Given the description of an element on the screen output the (x, y) to click on. 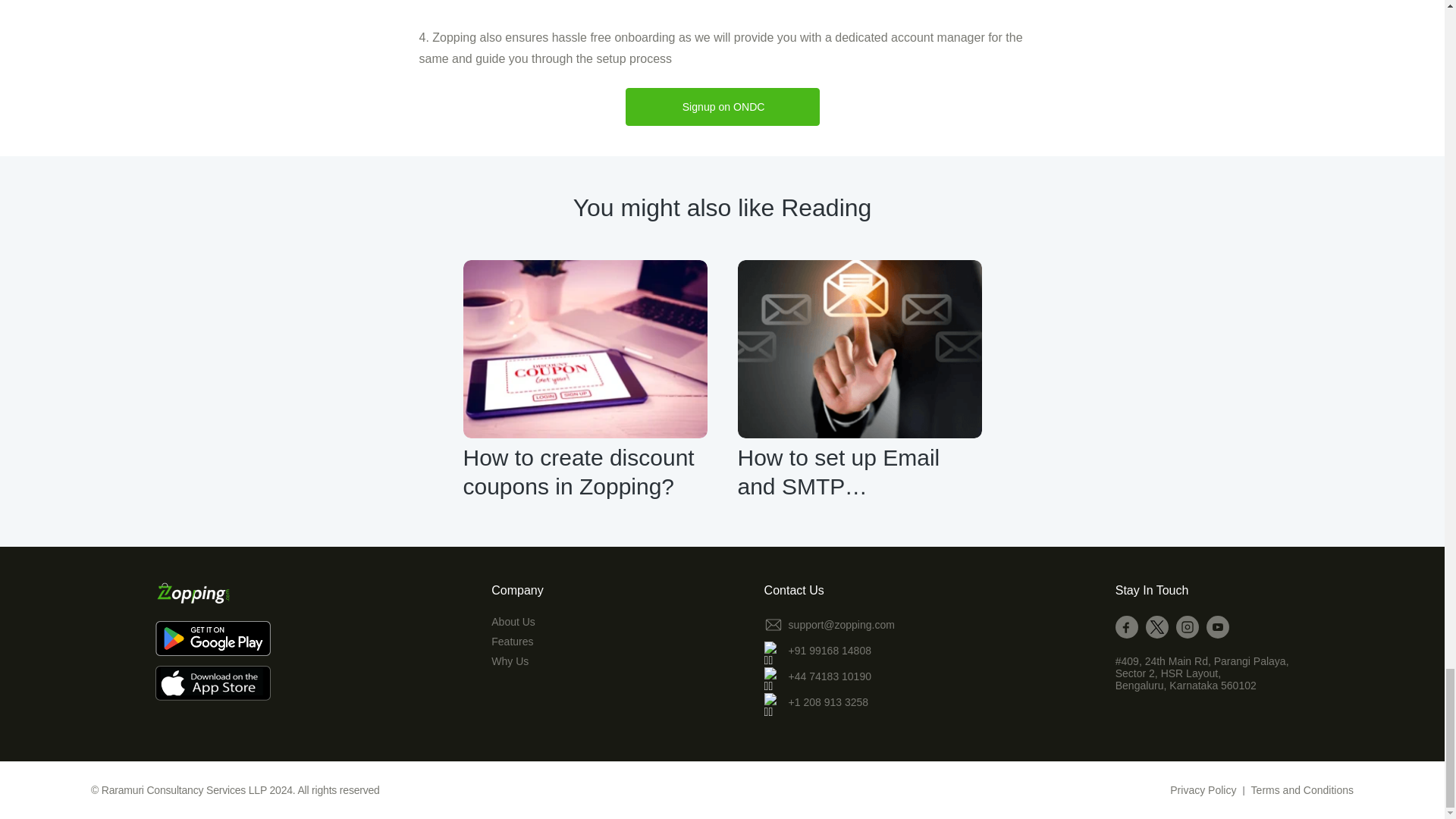
How to create discount coupons in Zopping? (584, 472)
Privacy Policy (1203, 789)
Signup on ONDC (723, 106)
About Us (517, 621)
Terms and Conditions (1302, 789)
Features (517, 641)
Why Us (517, 661)
